Given the description of an element on the screen output the (x, y) to click on. 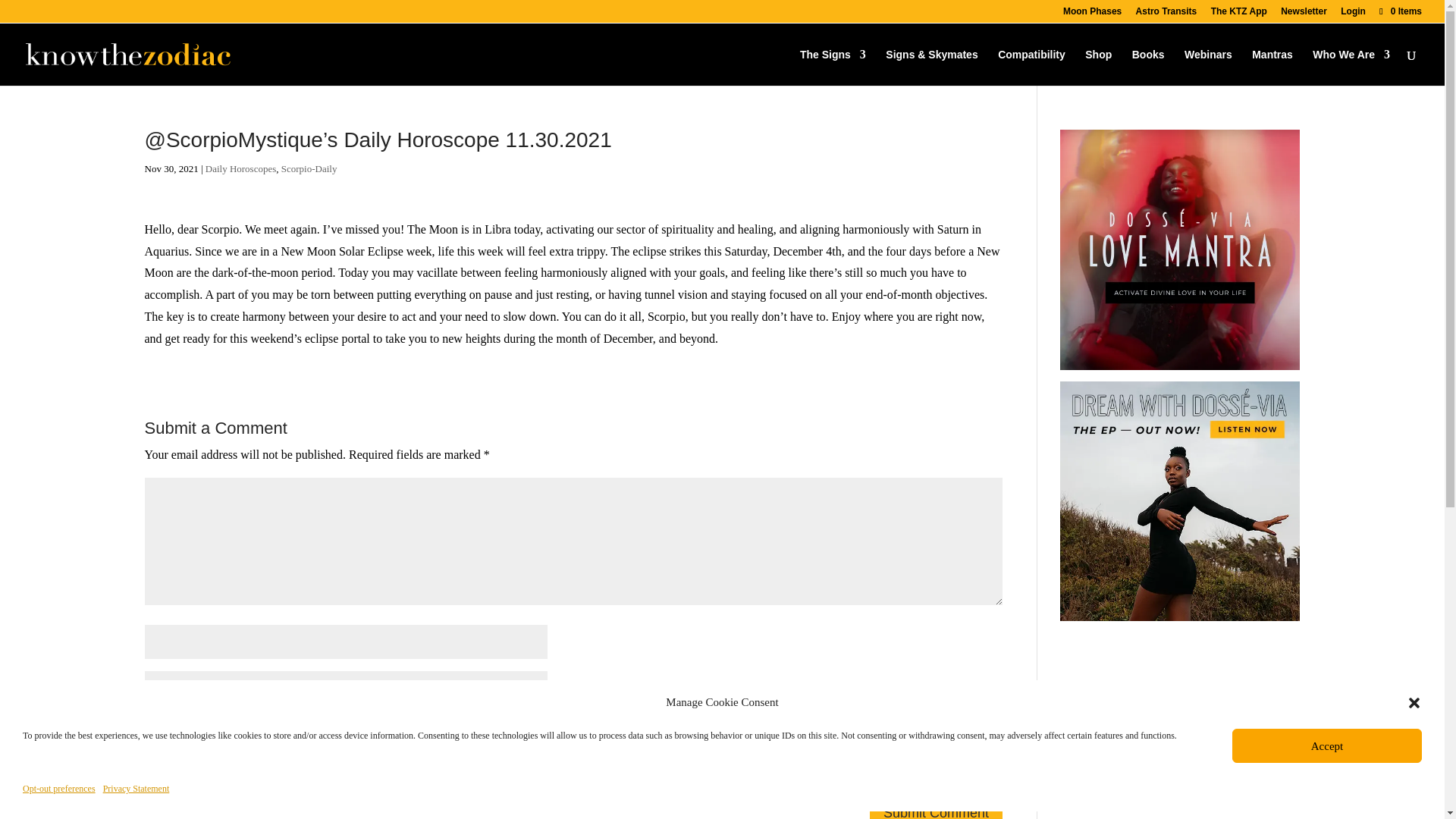
yes (152, 773)
The Signs (832, 67)
Webinars (1208, 67)
Login (1352, 14)
Compatibility (1031, 67)
Books (1148, 67)
Who We Are (1351, 67)
Astro Transits (1165, 14)
Moon Phases (1091, 14)
Privacy Statement (136, 789)
Submit Comment (936, 808)
Mantras (1272, 67)
0 Items (1399, 10)
Accept (1326, 745)
Newsletter (1303, 14)
